Given the description of an element on the screen output the (x, y) to click on. 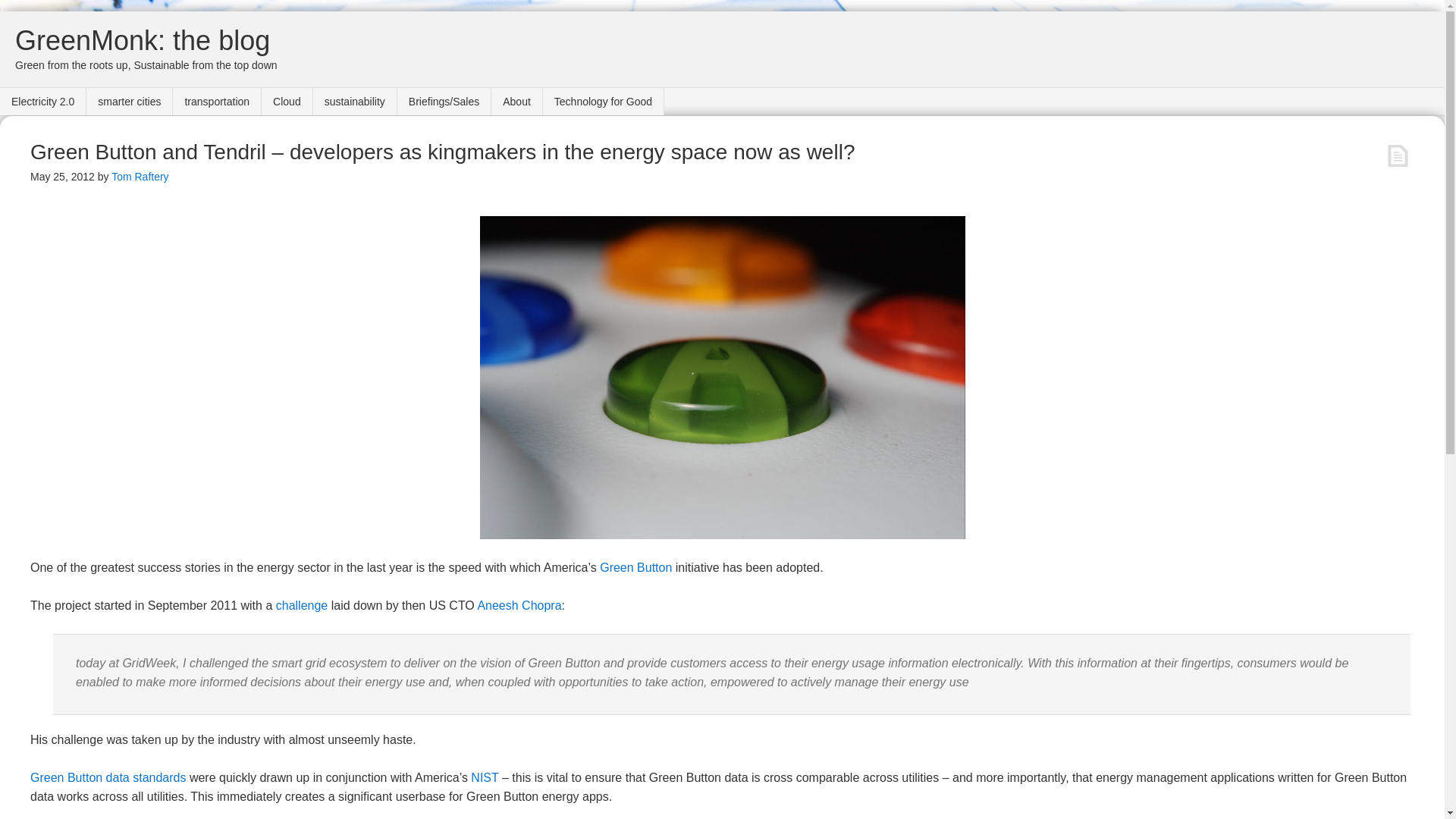
Aneesh Chopra (518, 604)
Green Button data standards (108, 777)
smarter cities (129, 101)
Electricity 2.0 (42, 101)
Technology for Good (603, 101)
challenge (302, 604)
Cloud (287, 101)
sustainability (355, 101)
GreenMonk: the blog (141, 40)
Tom Raftery (140, 176)
Green Button (635, 567)
Green Button (635, 567)
GreenMonk: the blog (141, 40)
transportation (217, 101)
